Given the description of an element on the screen output the (x, y) to click on. 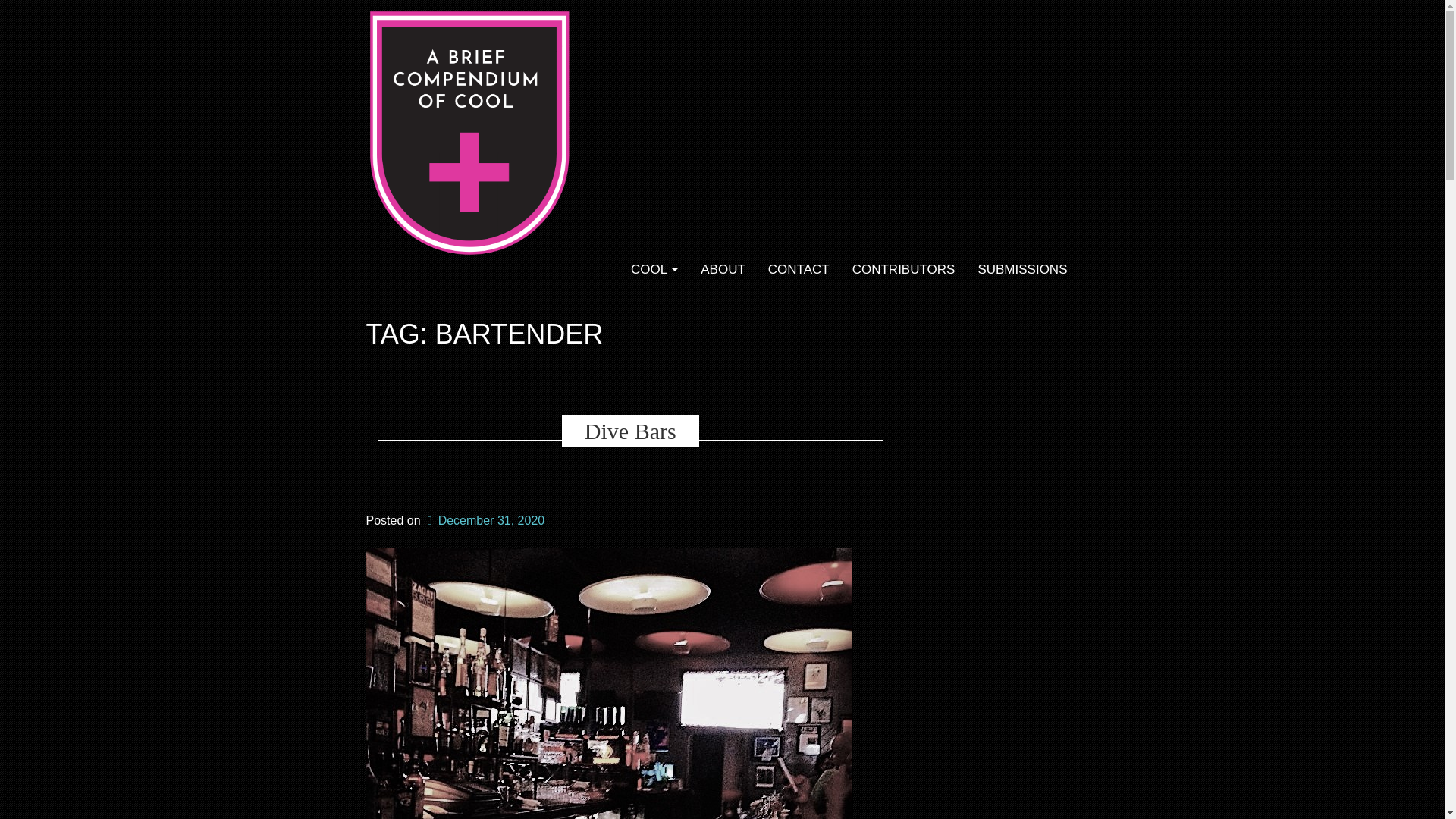
ABOUT (722, 269)
Dive Bars (630, 430)
December 31, 2020 (483, 520)
CONTACT (799, 269)
CONTRIBUTORS (903, 269)
COOL (654, 269)
SUBMISSIONS (1022, 269)
